Given the description of an element on the screen output the (x, y) to click on. 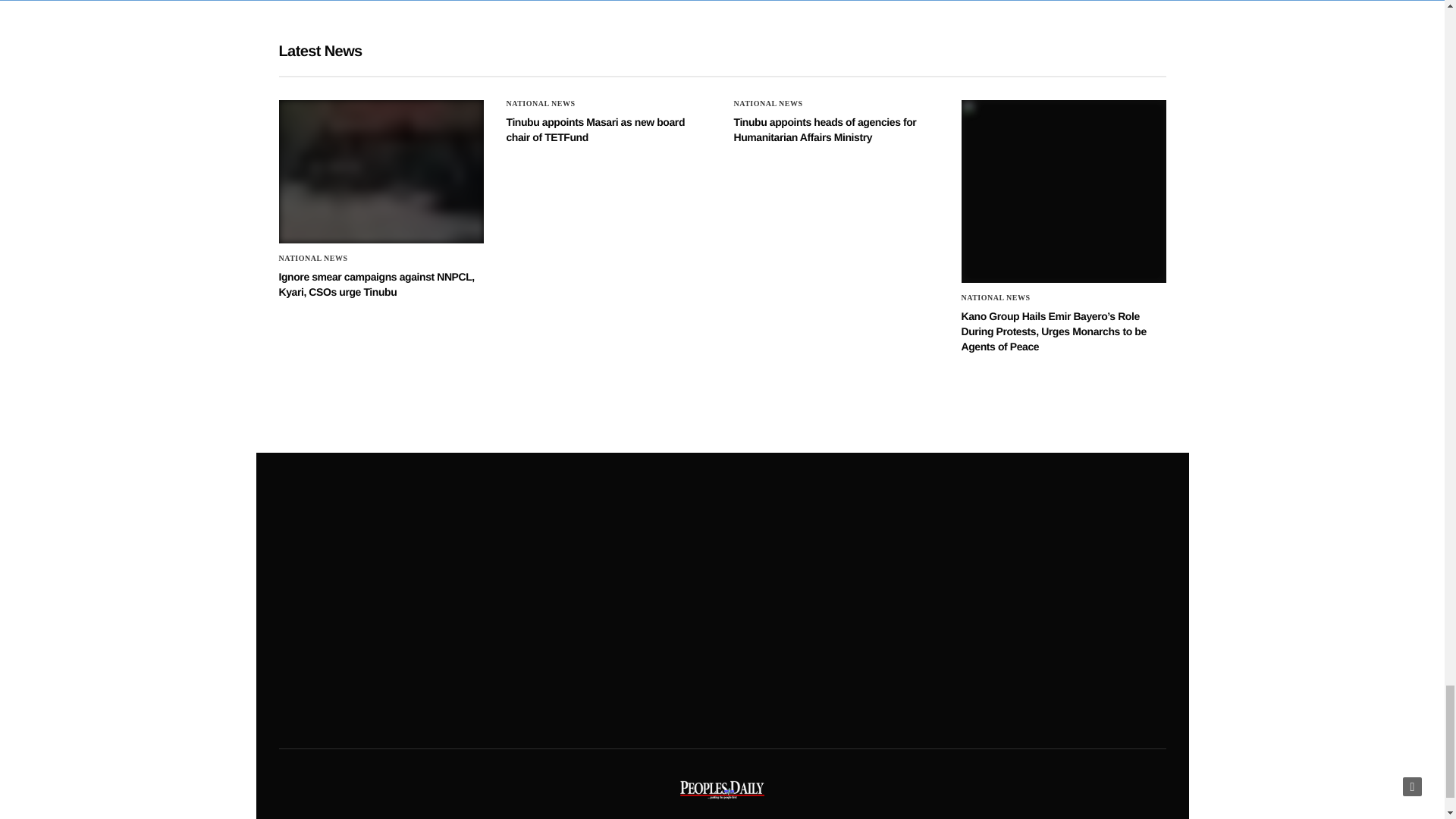
National News (313, 258)
Tinubu appoints Masari as new board chair of TETFund (595, 129)
National News (540, 103)
National News (768, 103)
